Given the description of an element on the screen output the (x, y) to click on. 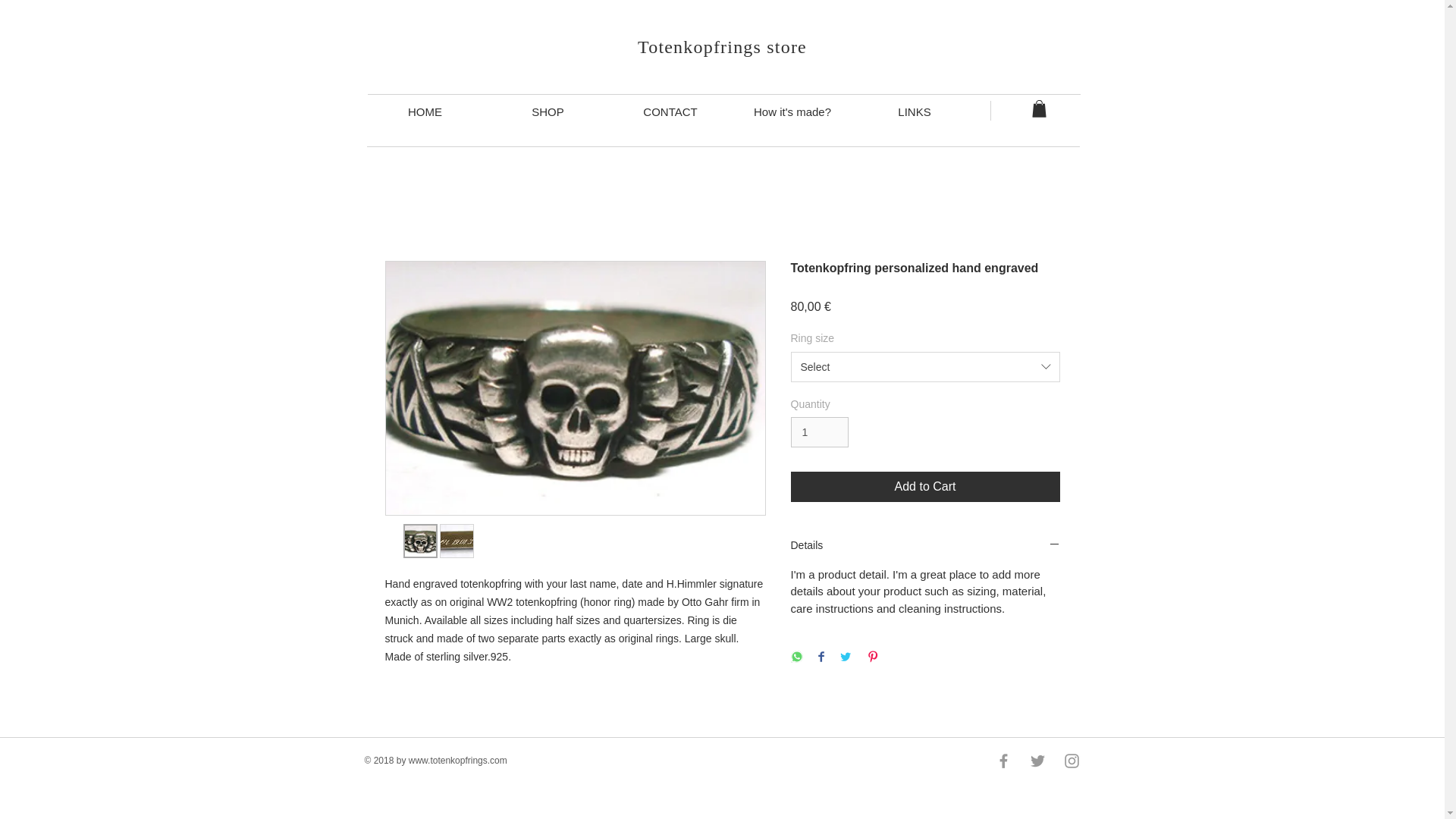
LINKS (914, 111)
Details (924, 545)
SHOP (548, 111)
Totenkopfrings store (721, 46)
Add to Cart (924, 486)
1 (818, 431)
How it's made? (791, 111)
www.totenkopfrings.com (457, 760)
HOME (425, 111)
Select (924, 367)
